Given the description of an element on the screen output the (x, y) to click on. 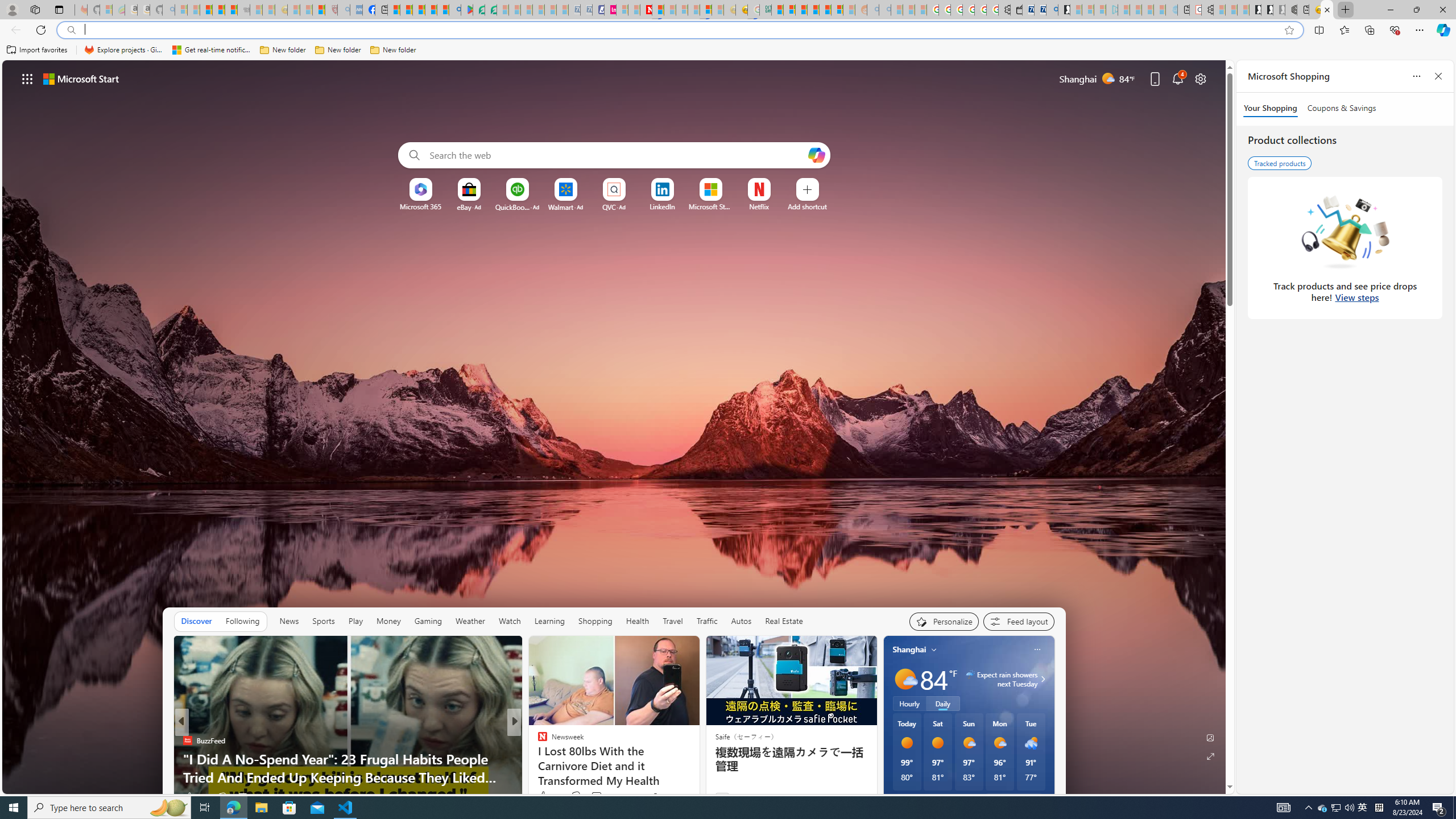
Simply Recipes (187, 740)
Edit Background (1210, 737)
Add a site (807, 206)
View comments 11 Comment (592, 797)
See full forecast (1013, 799)
